Given the description of an element on the screen output the (x, y) to click on. 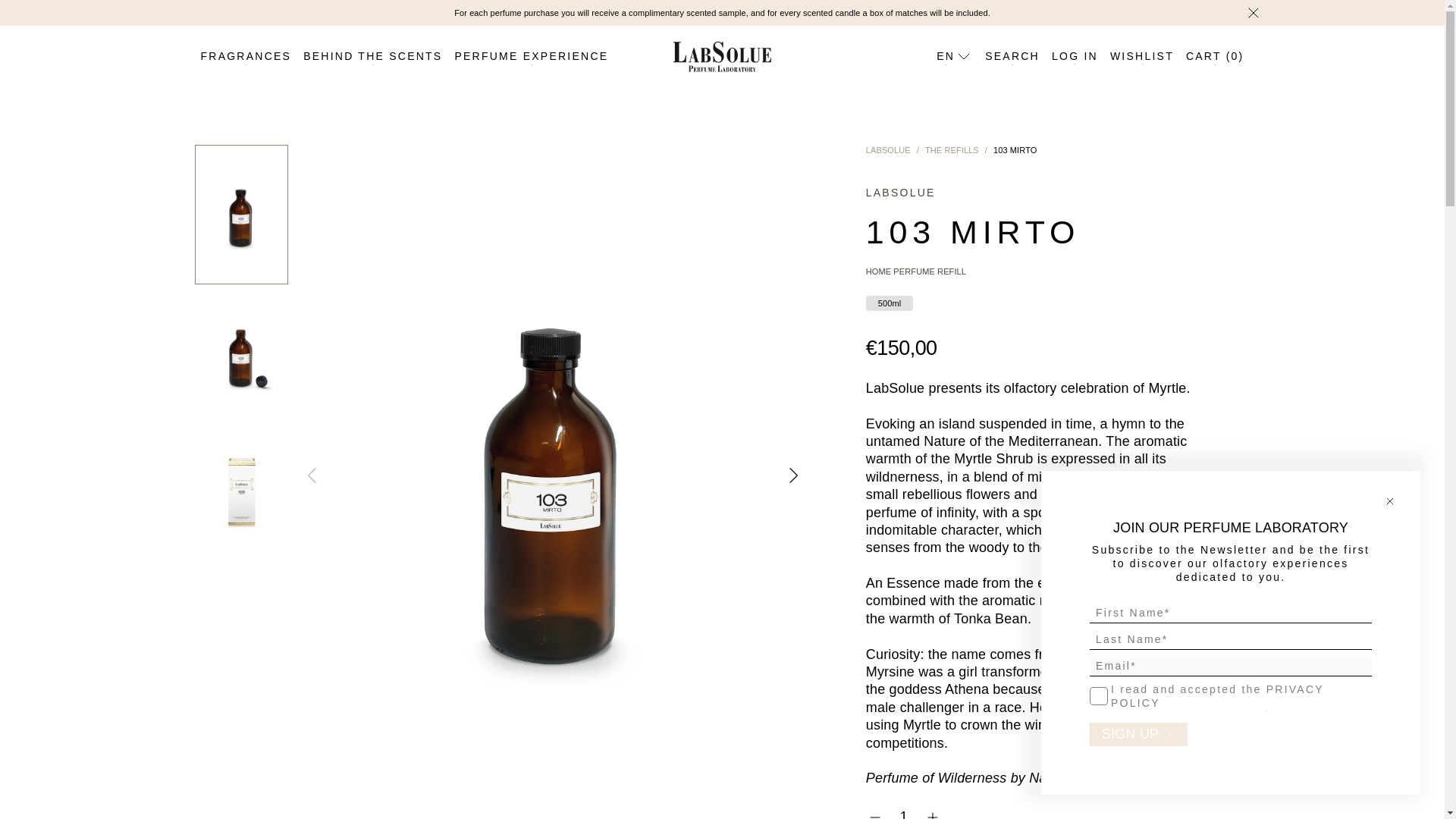
LabSolue (721, 56)
The Refills (951, 149)
LabSolue (888, 149)
Log in (1074, 55)
Wishlist (1141, 55)
